Given the description of an element on the screen output the (x, y) to click on. 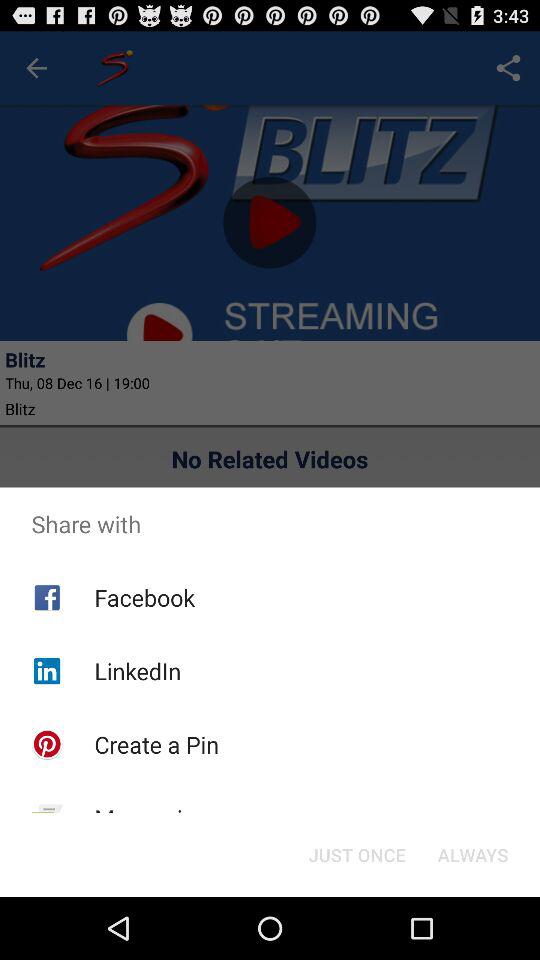
select item below the linkedin (156, 744)
